Given the description of an element on the screen output the (x, y) to click on. 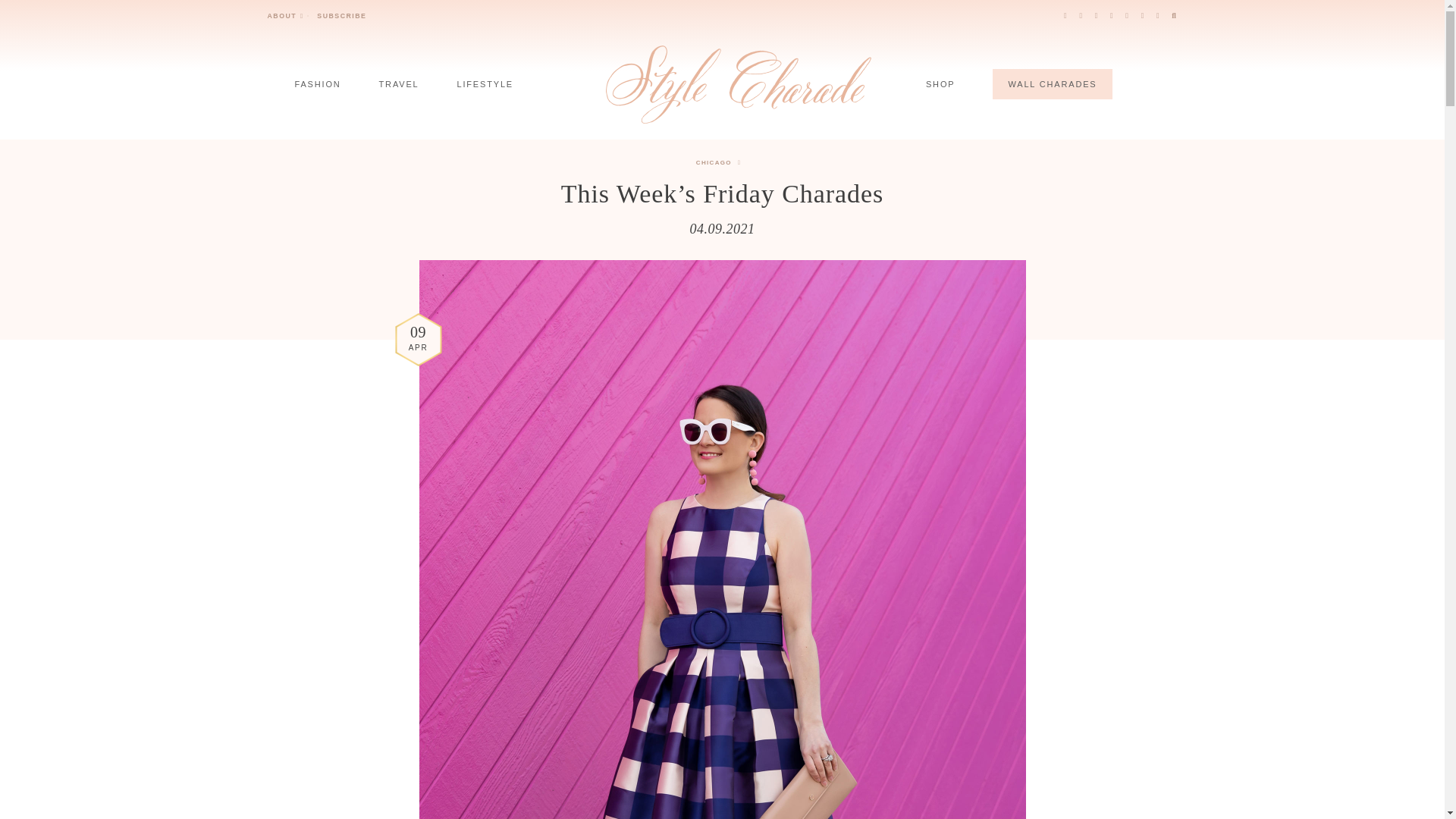
View all posts in Chicago (718, 162)
